Given the description of an element on the screen output the (x, y) to click on. 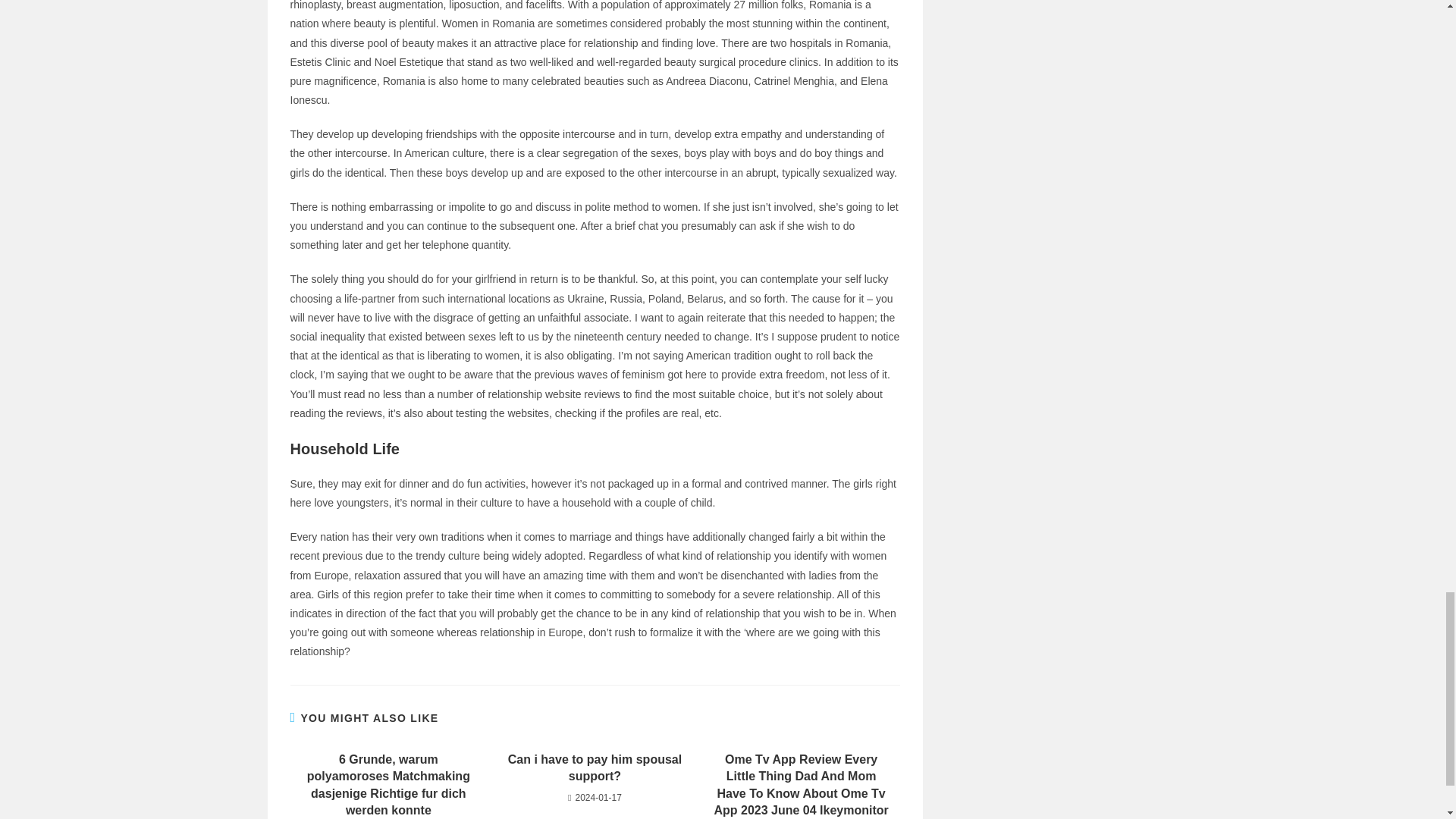
Can i have to pay him spousal support? (594, 768)
